Given the description of an element on the screen output the (x, y) to click on. 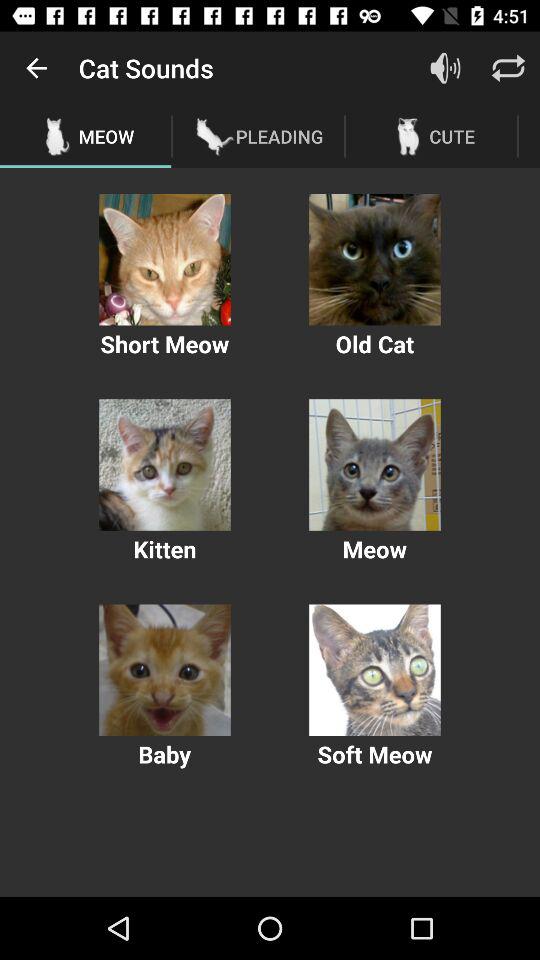
press for short meow (164, 259)
